Given the description of an element on the screen output the (x, y) to click on. 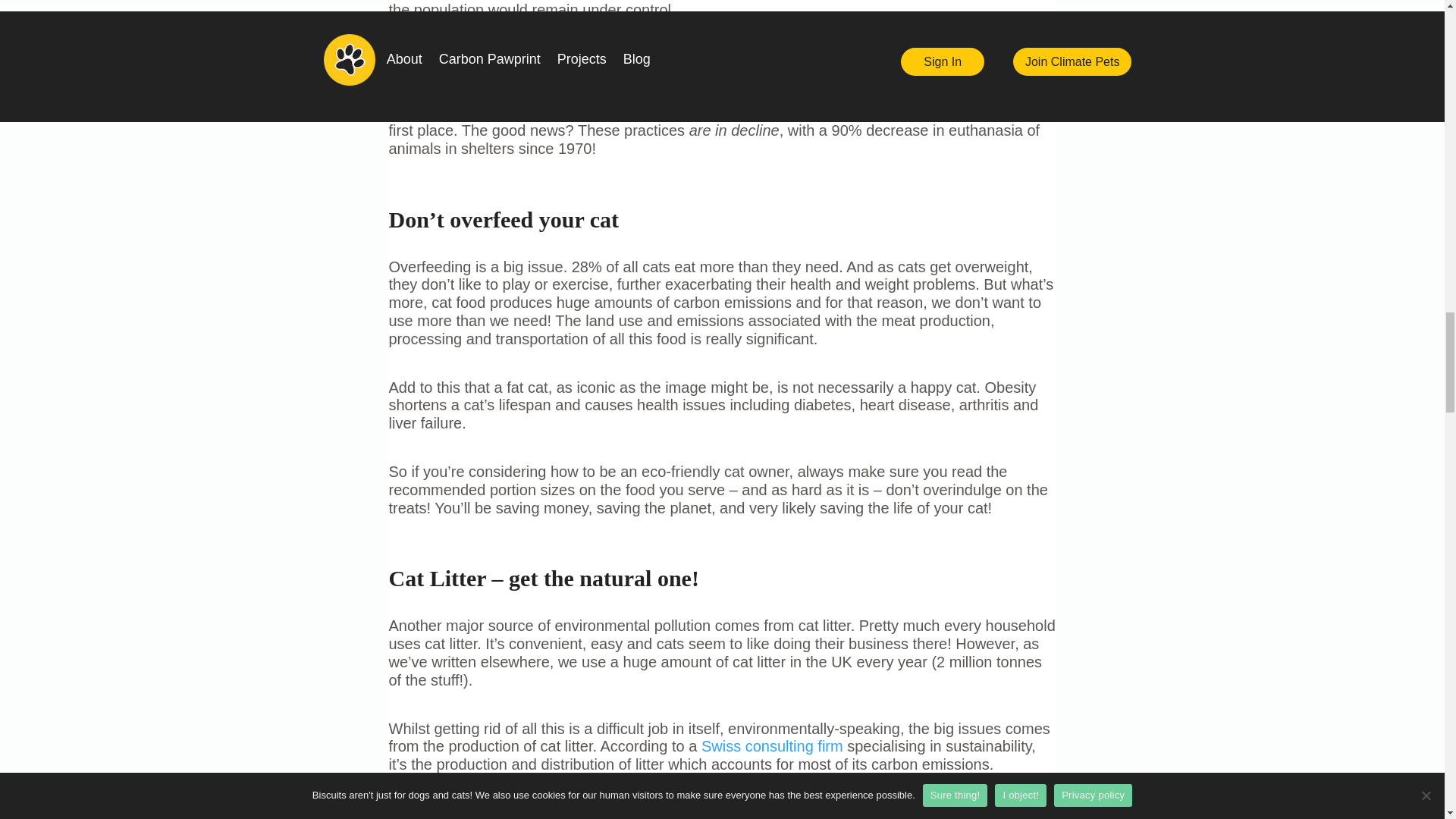
1.4 million animals (793, 93)
Swiss consulting firm (772, 745)
